Given the description of an element on the screen output the (x, y) to click on. 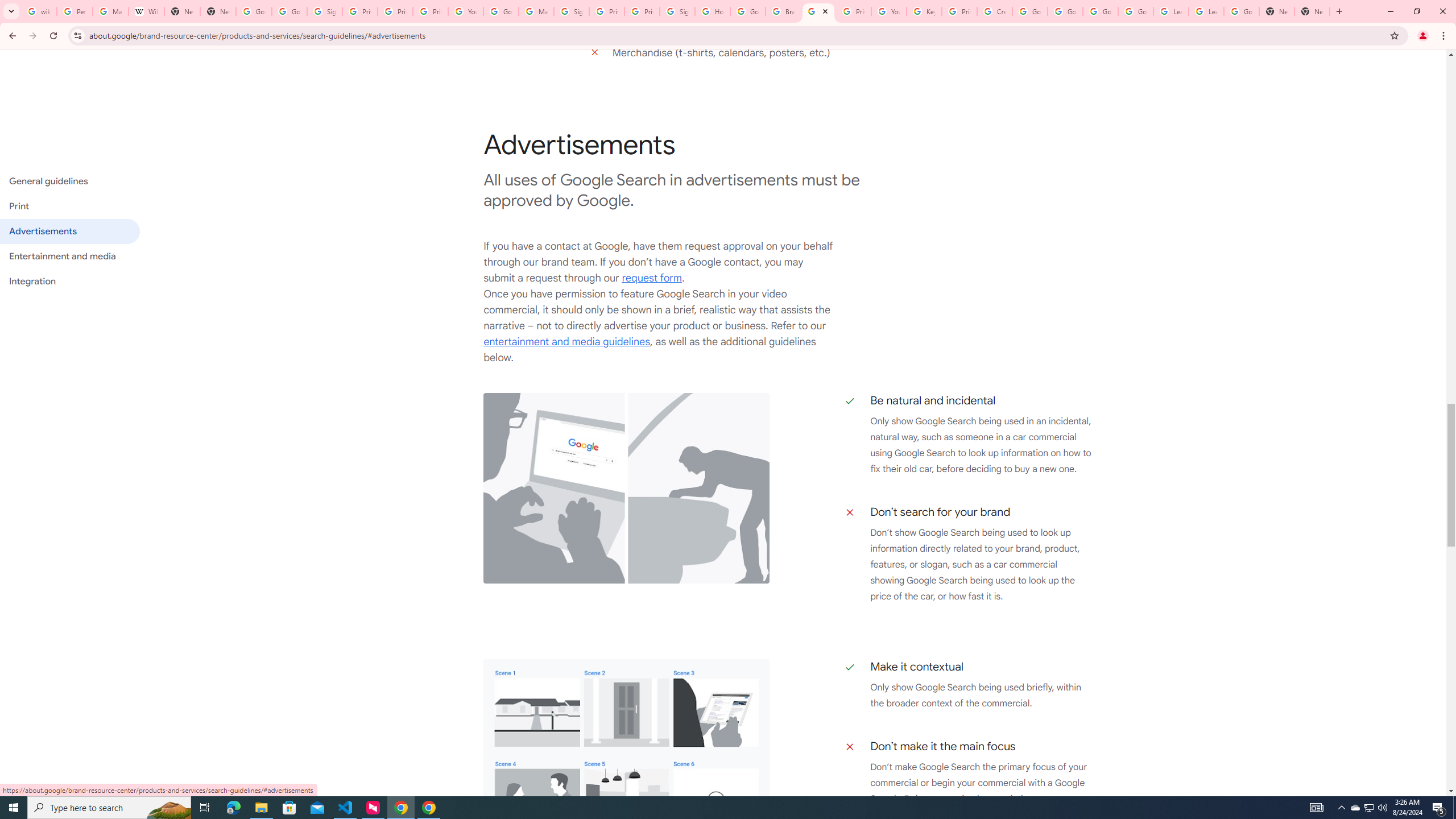
Google Account Help (1064, 11)
Entertainment and media (69, 256)
Create your Google Account (994, 11)
Personalization & Google Search results - Google Search Help (74, 11)
